Given the description of an element on the screen output the (x, y) to click on. 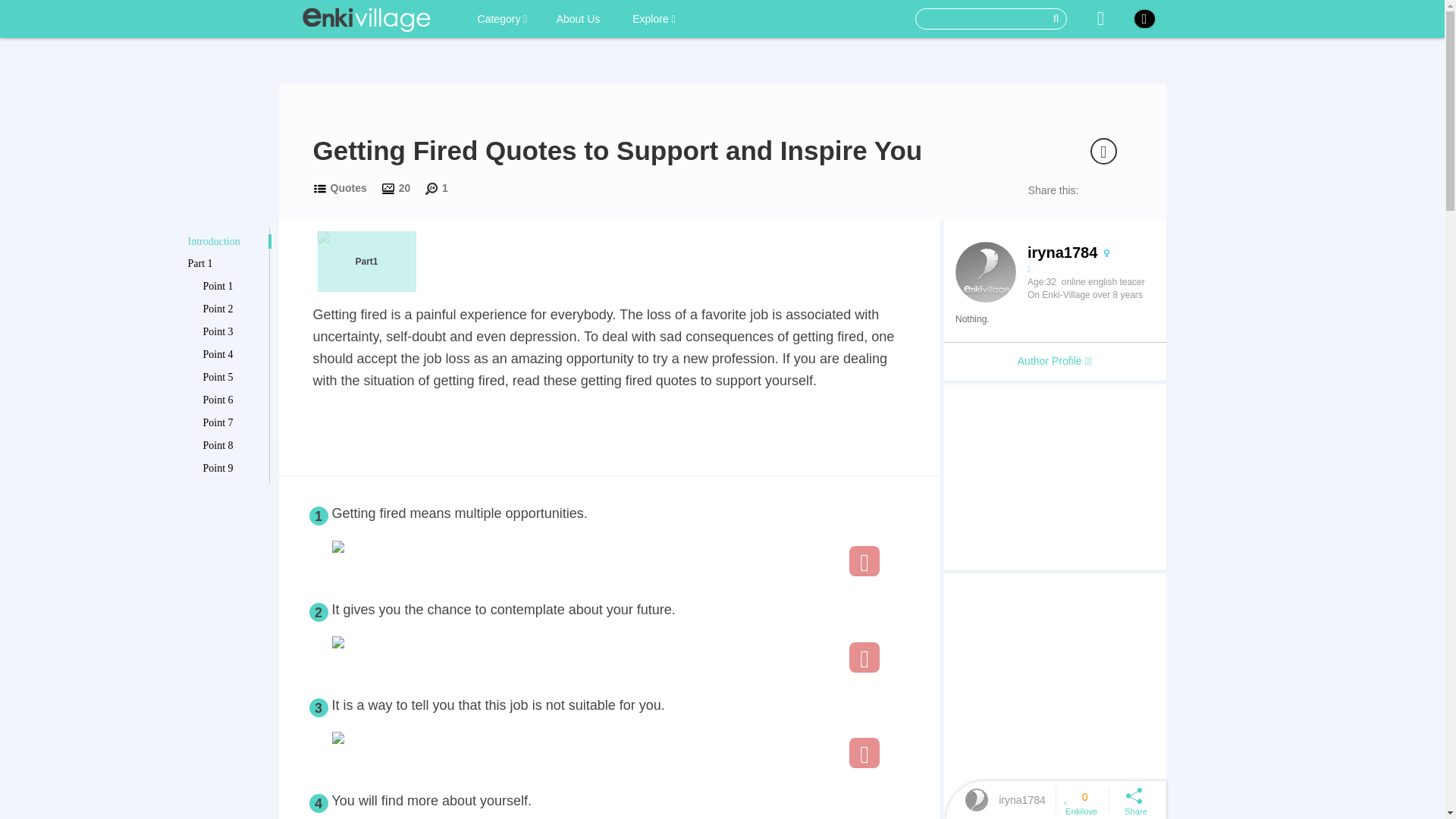
Point 2 (233, 309)
Point 4 (233, 354)
Advertisement (1054, 477)
About Us (577, 18)
Explore (653, 18)
iryna1784 (1021, 800)
Part 1 (225, 263)
Advertisement (609, 434)
Introduction (225, 240)
Quotes (348, 187)
